Given the description of an element on the screen output the (x, y) to click on. 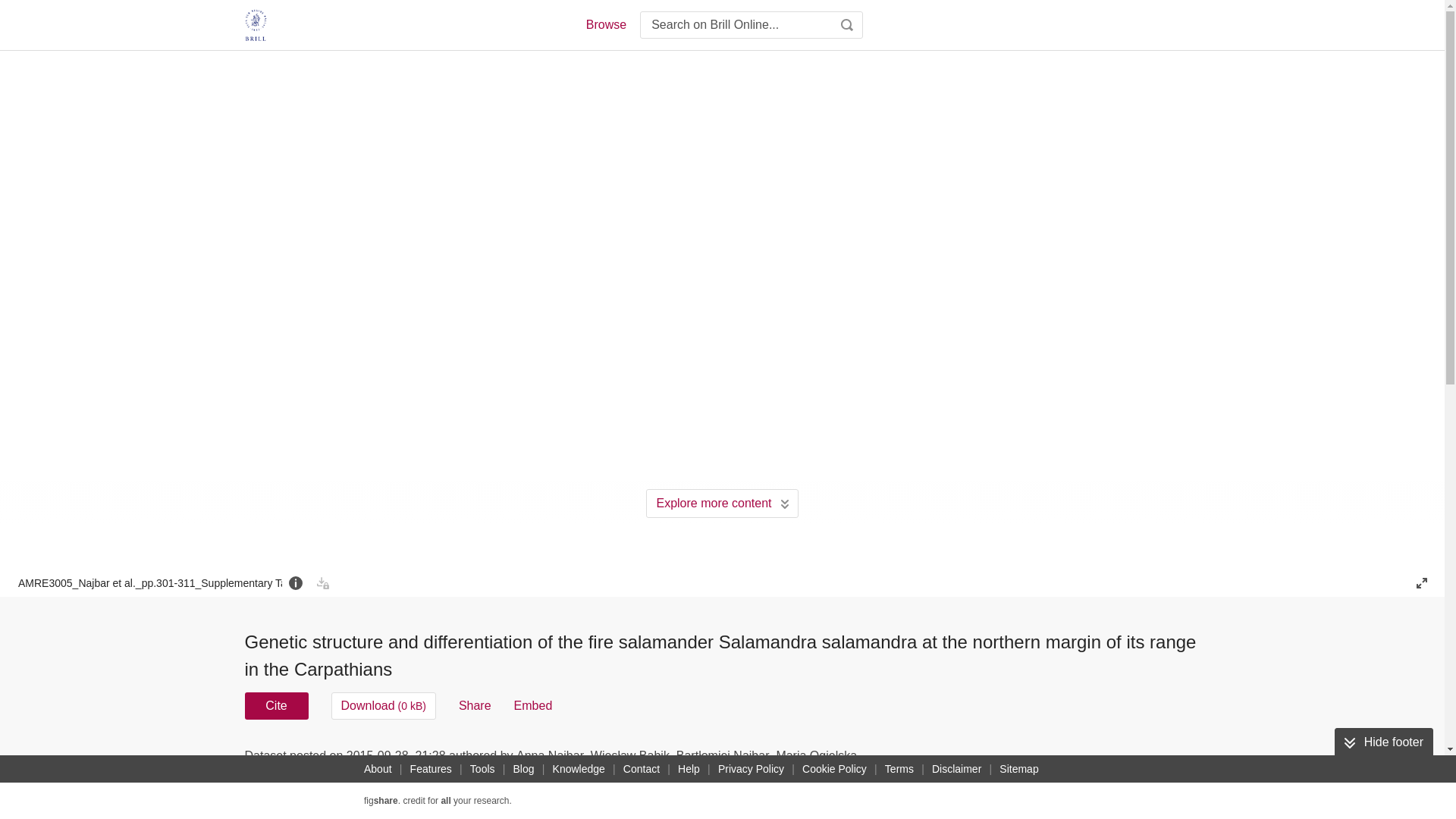
Browse (605, 24)
About (377, 769)
Hide footer (1383, 742)
Explore more content (721, 502)
Tools (482, 769)
USAGE METRICS (976, 759)
Embed (533, 705)
Cite (275, 705)
Share (475, 705)
Features (431, 769)
